Given the description of an element on the screen output the (x, y) to click on. 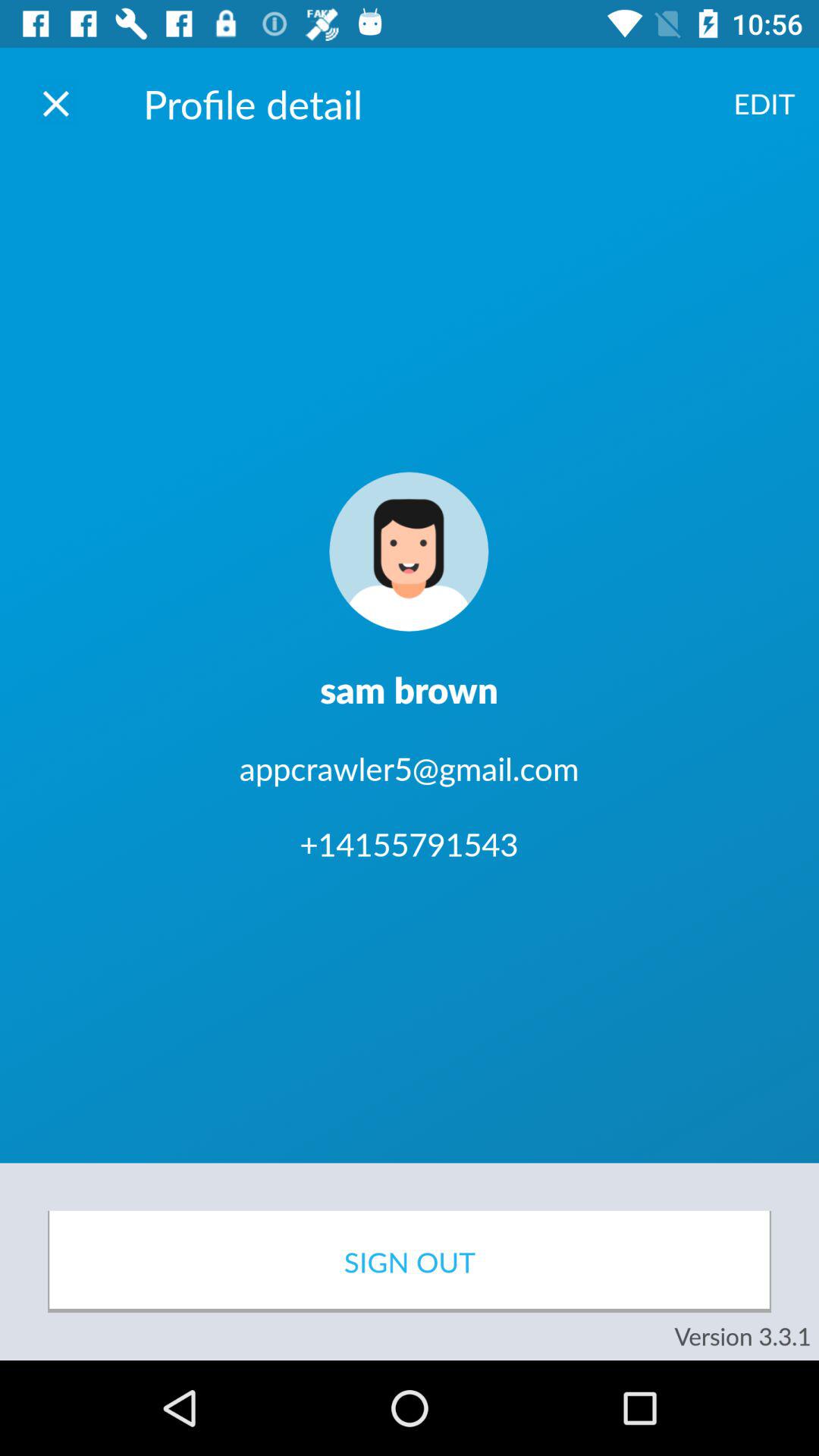
choose icon above version 3 3 (409, 1261)
